Given the description of an element on the screen output the (x, y) to click on. 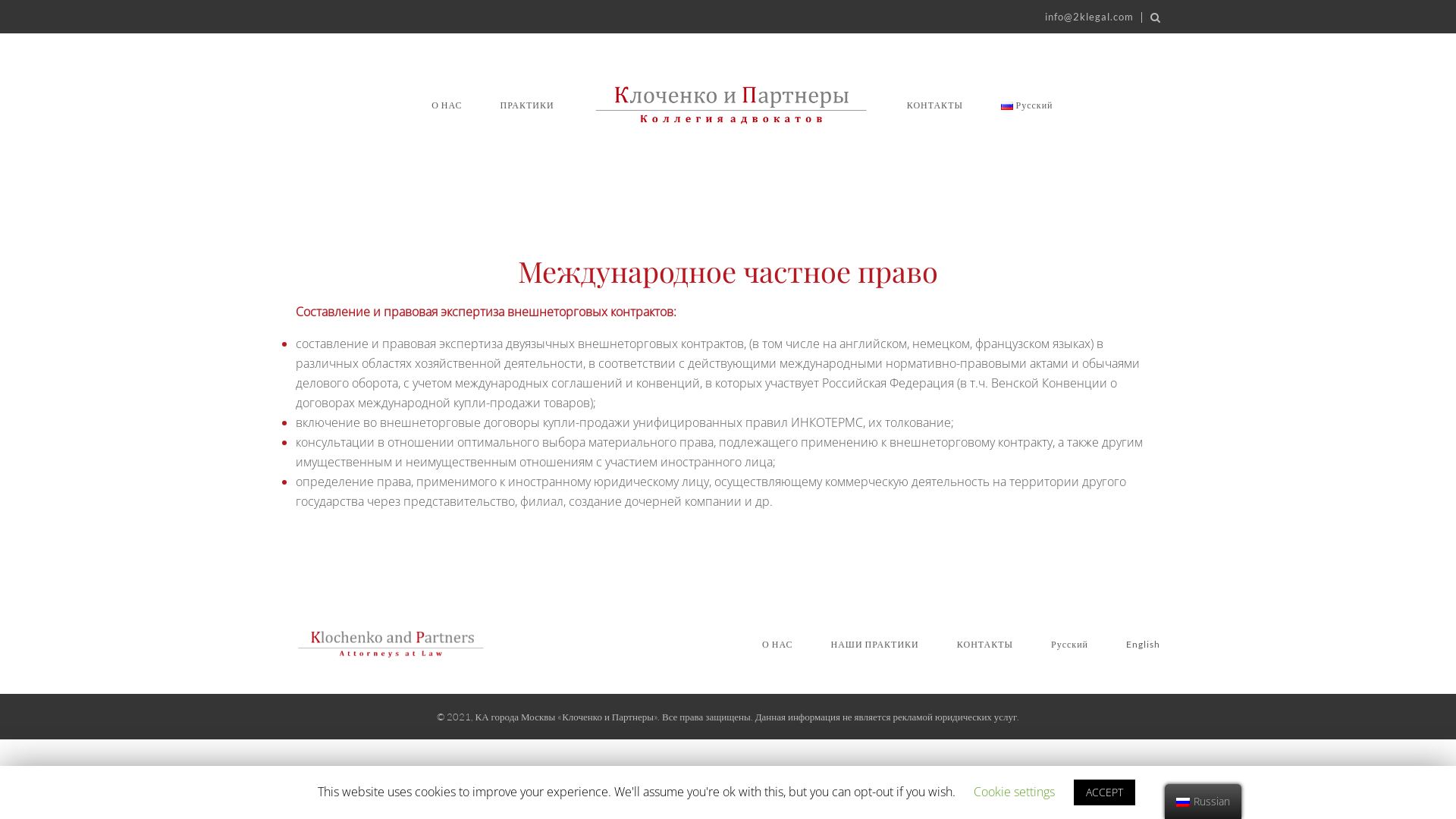
Russian Element type: hover (1182, 801)
English Element type: text (1143, 644)
ACCEPT Element type: text (1104, 792)
Cookie settings Element type: text (1013, 791)
